Given the description of an element on the screen output the (x, y) to click on. 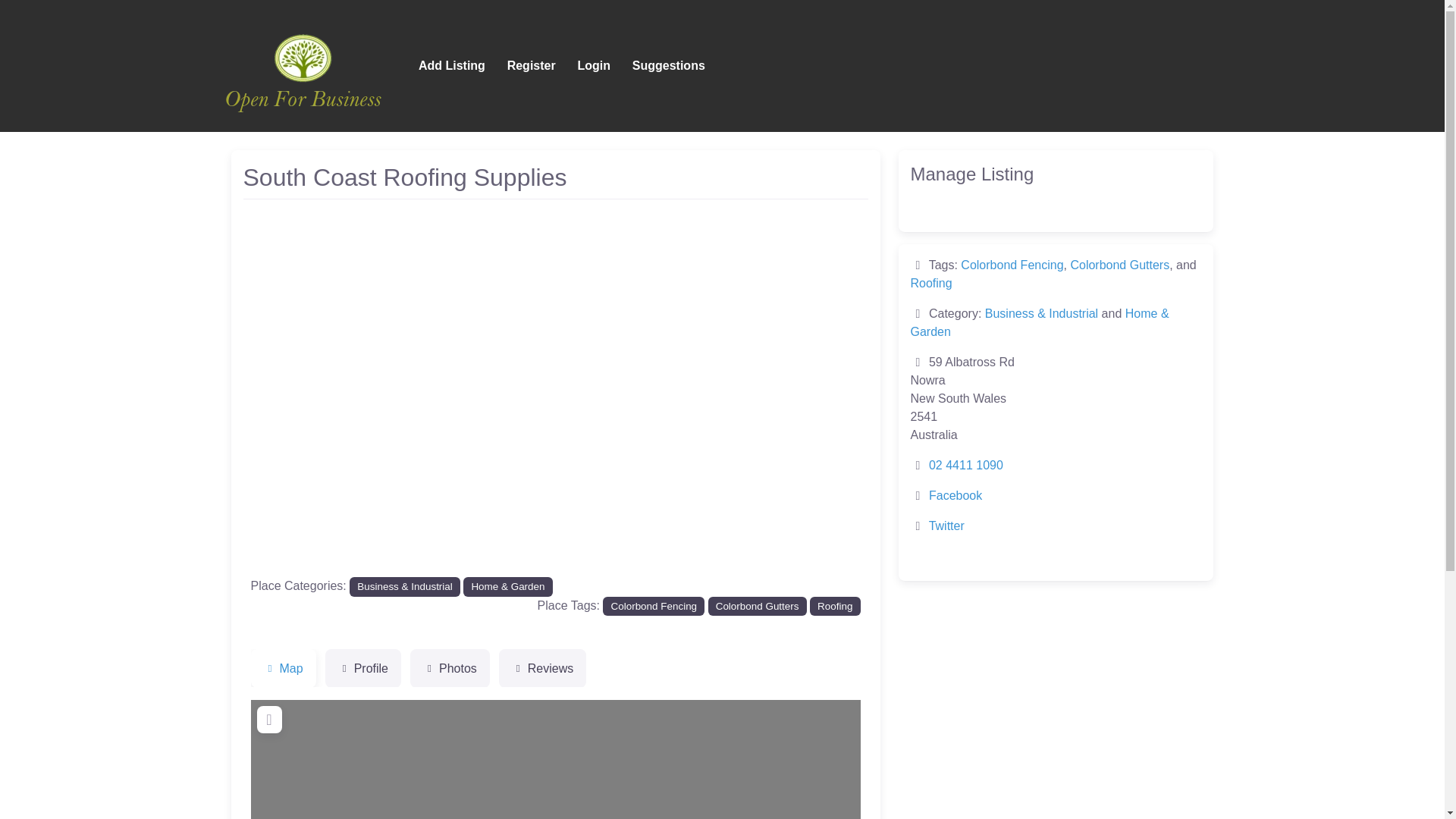
Login (593, 65)
Reviews (542, 668)
Roofing (834, 606)
Photos (449, 668)
Colorbond Gutters (756, 606)
Map (282, 668)
Reviews (542, 668)
Twitter (945, 525)
Register (531, 65)
Colorbond Fencing (1011, 264)
Colorbond Fencing (653, 606)
Suggestions (668, 65)
Photos (449, 668)
Map (282, 668)
Roofing (931, 282)
